Given the description of an element on the screen output the (x, y) to click on. 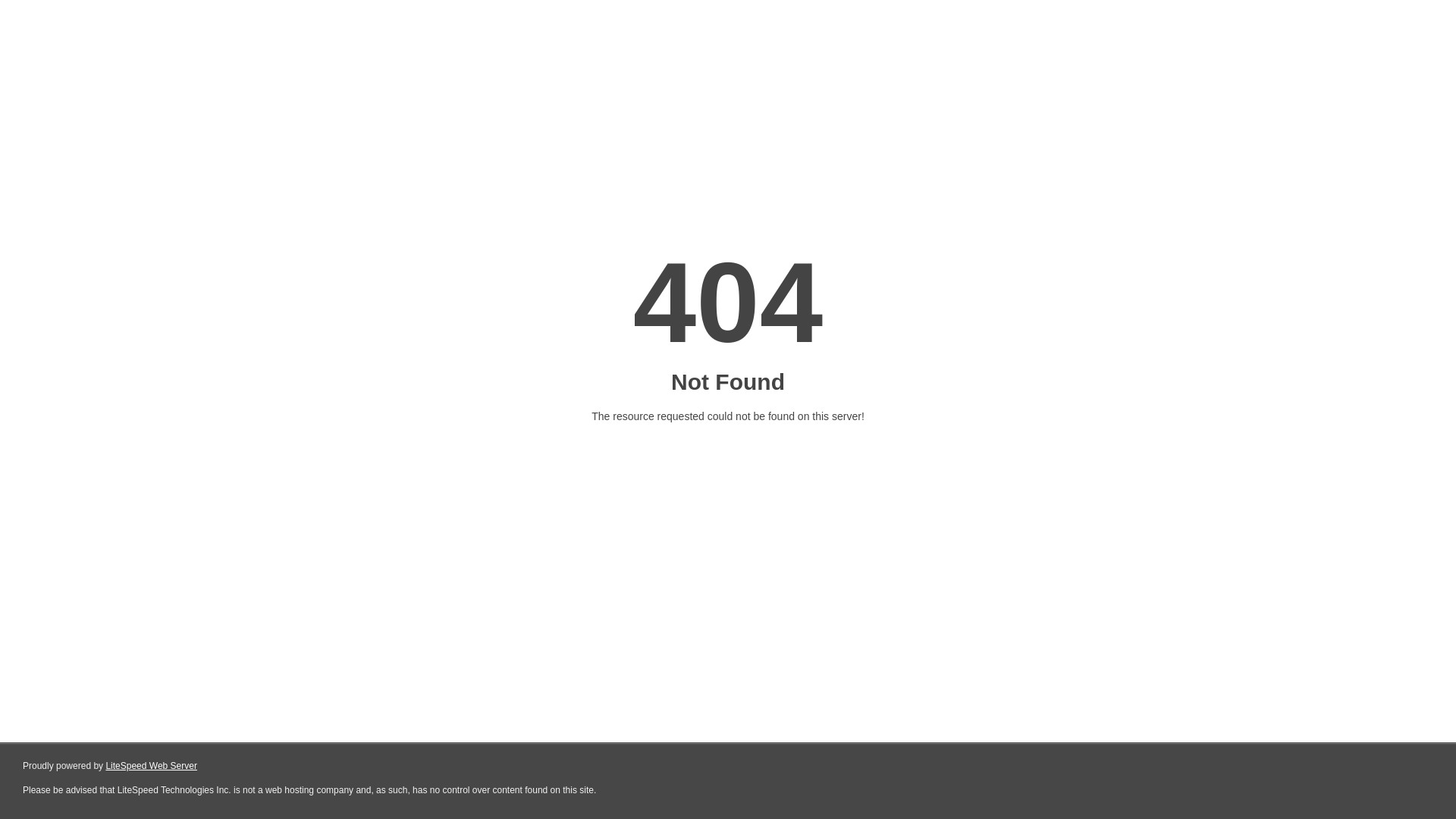
LiteSpeed Web Server Element type: text (151, 765)
